Given the description of an element on the screen output the (x, y) to click on. 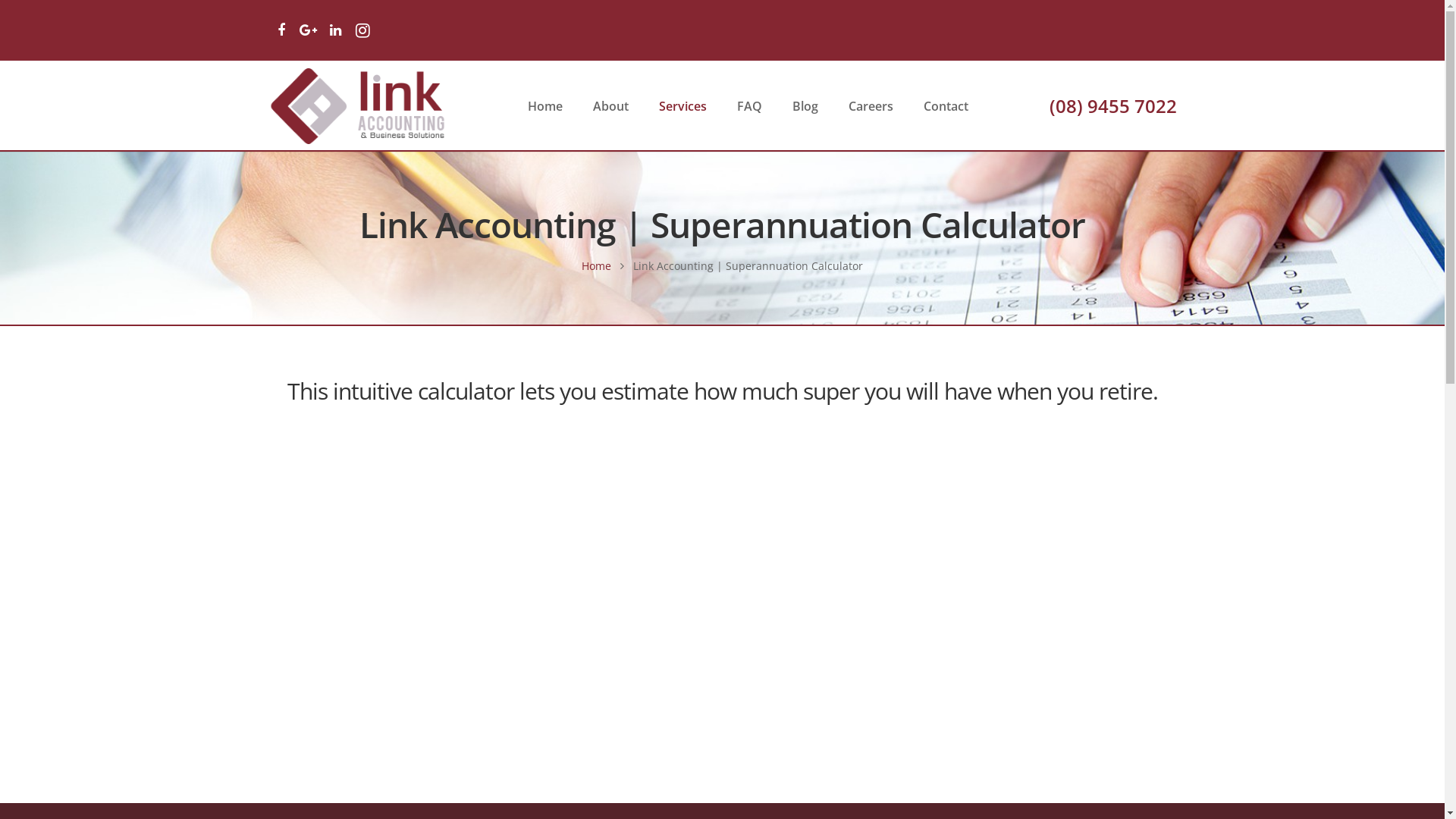
Home Element type: text (596, 265)
Services Element type: text (682, 105)
Home Element type: text (544, 105)
About Element type: text (610, 105)
Blog Element type: text (805, 105)
(08) 9455 7022 Element type: text (1112, 105)
FAQ Element type: text (749, 105)
Careers Element type: text (870, 105)
Contact Element type: text (945, 105)
